Given the description of an element on the screen output the (x, y) to click on. 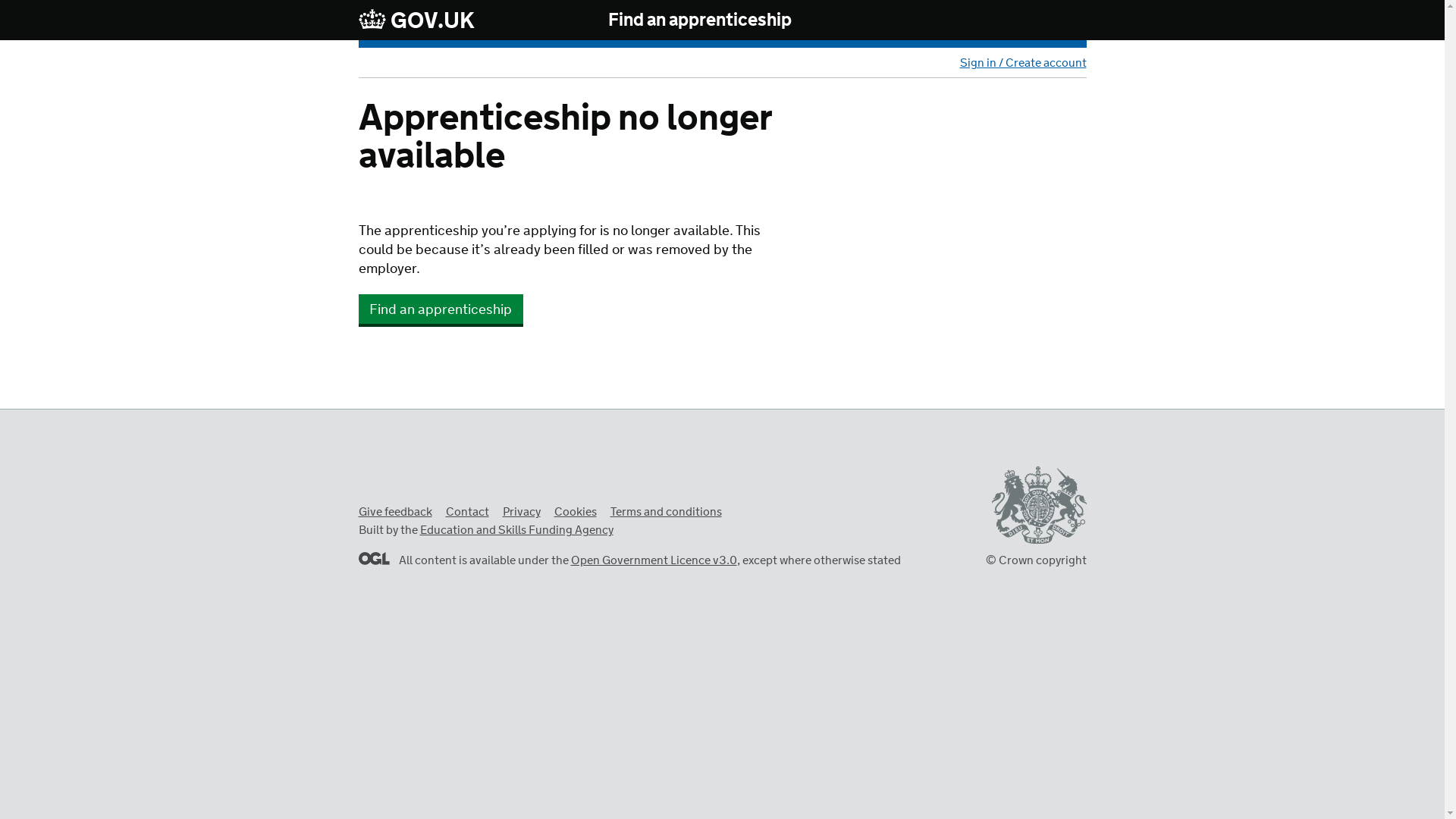
Find an apprenticeship (440, 309)
GOV.UK (416, 20)
Find an apprenticeship (700, 20)
Privacy (521, 512)
Contact (467, 512)
Cookies (574, 512)
Education and Skills Funding Agency (516, 530)
Terms and conditions (665, 512)
Open Government Licence (373, 558)
Give feedback (394, 512)
Go to the GOV.UK homepage (416, 20)
Open Government Licence v3.0 (653, 560)
